Given the description of an element on the screen output the (x, y) to click on. 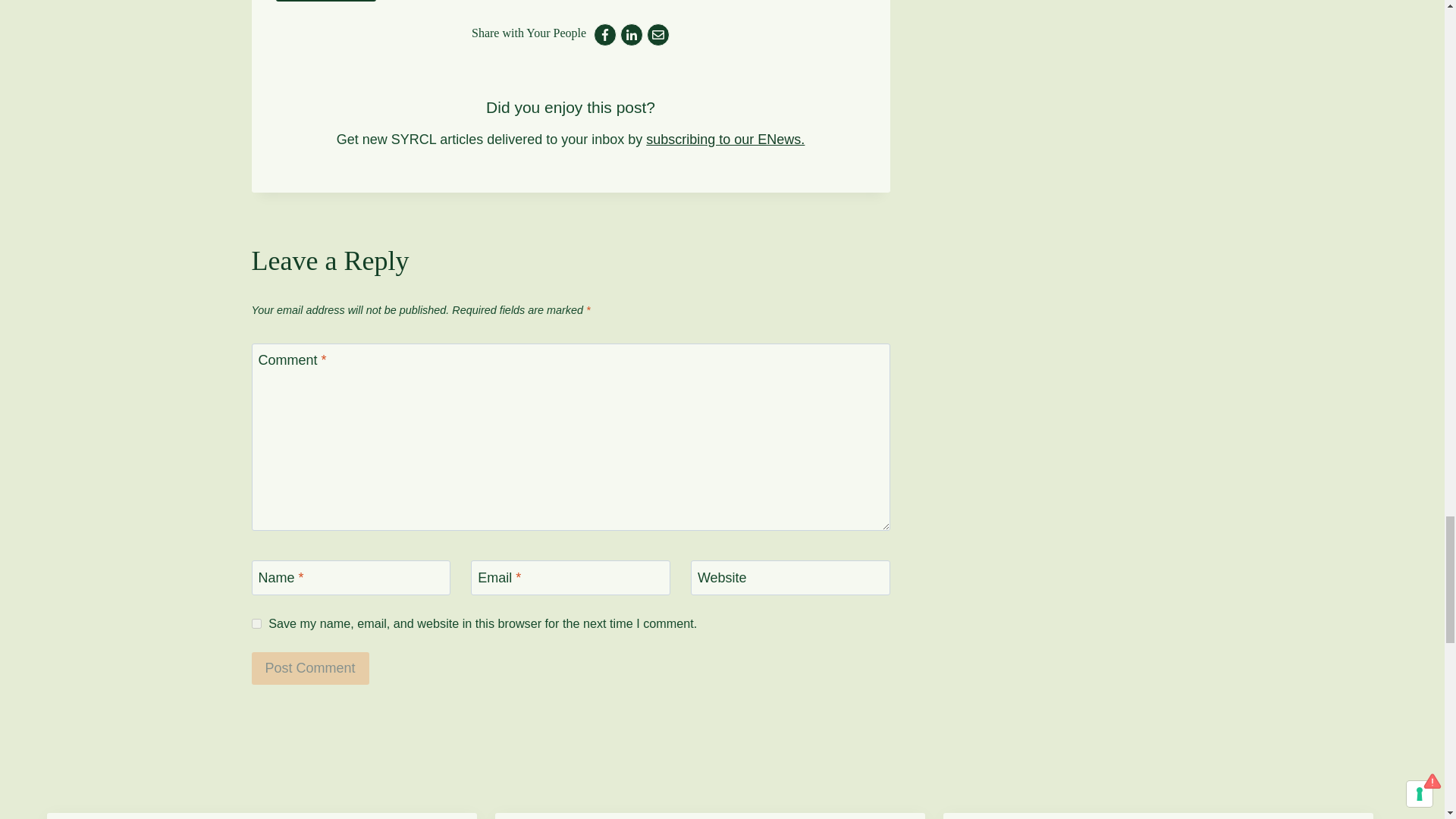
Post Comment (310, 667)
Centennial Dam (325, 1)
yes (256, 623)
